Given the description of an element on the screen output the (x, y) to click on. 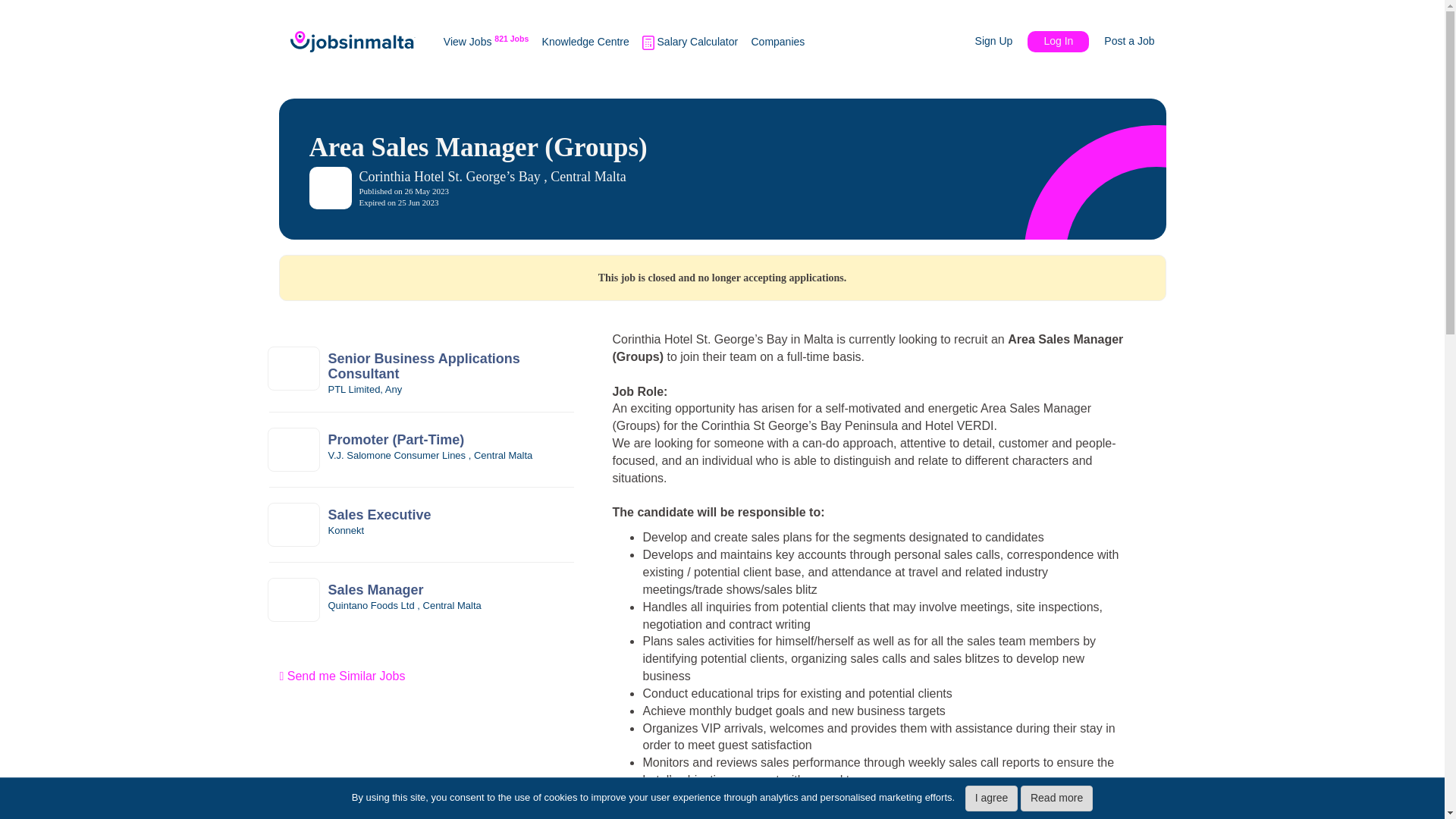
Companies (778, 41)
Sales Manager (450, 590)
Sign Up (1001, 40)
Post a Job (1121, 41)
Sales Executive (450, 515)
Read more (1056, 798)
Knowledge Centre (584, 41)
View Jobs 821 Jobs (486, 41)
Senior Business Applications Consultant (450, 367)
Salary Calculator (690, 42)
